Given the description of an element on the screen output the (x, y) to click on. 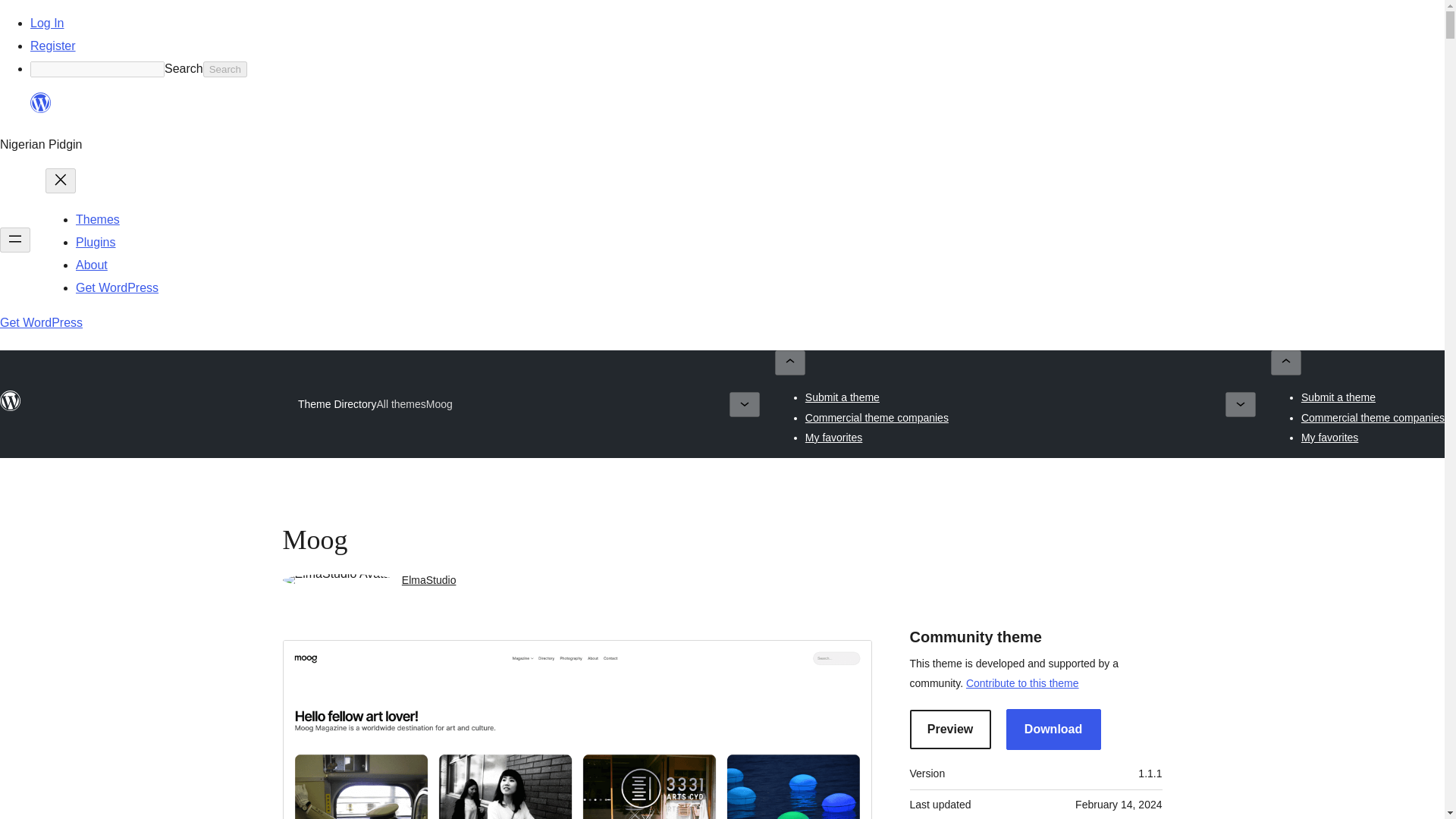
Theme Directory (336, 404)
WordPress.org (40, 109)
Moog (439, 404)
WordPress.org (10, 400)
WordPress.org (10, 408)
WordPress.org (40, 102)
My favorites (1329, 437)
Search (225, 68)
Register (52, 45)
Submit a theme (1338, 397)
About (91, 264)
Get WordPress (41, 322)
Commercial theme companies (877, 417)
ElmaStudio (429, 580)
All themes (400, 403)
